Given the description of an element on the screen output the (x, y) to click on. 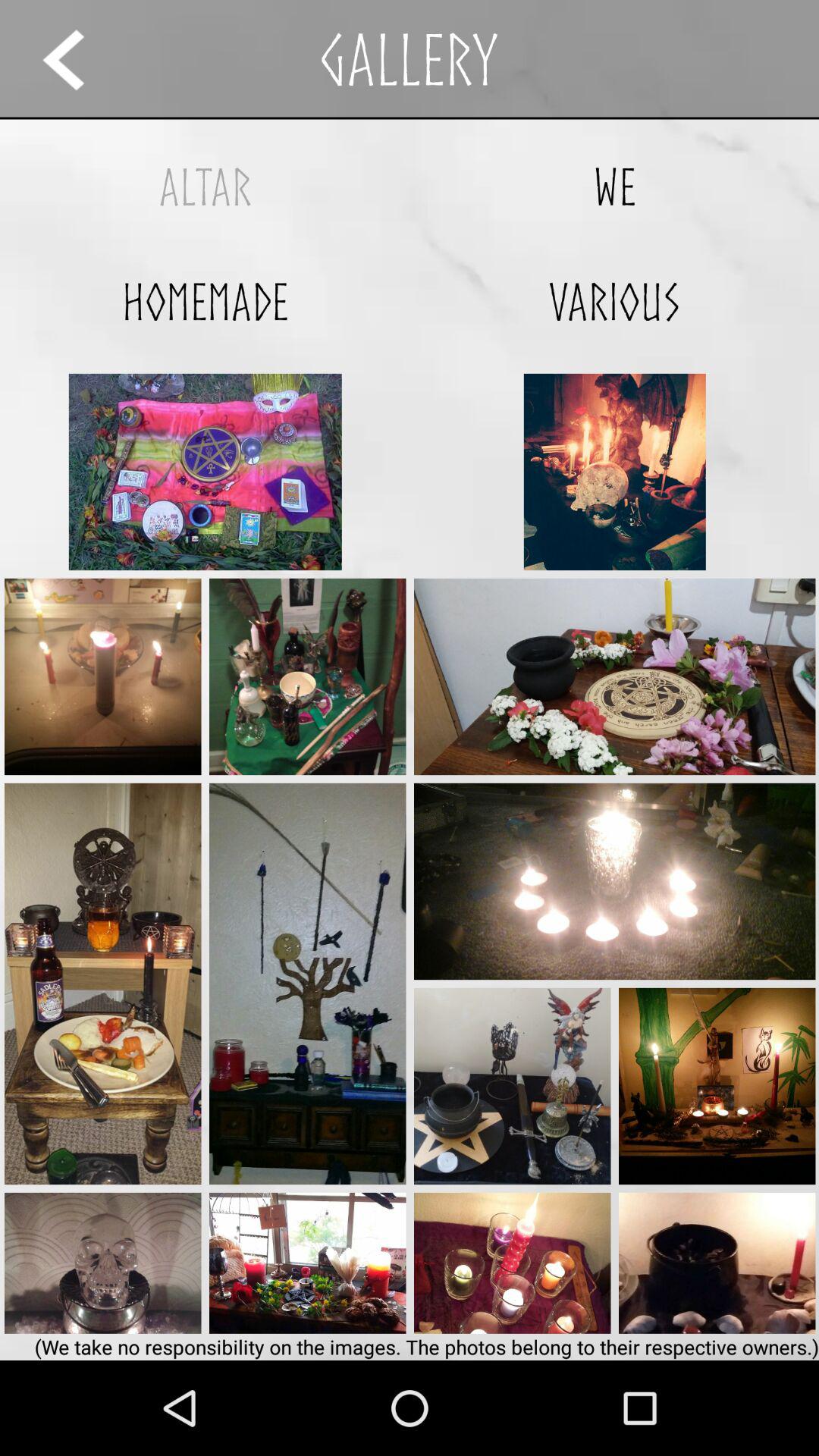
click the item to the left of we app (204, 186)
